Given the description of an element on the screen output the (x, y) to click on. 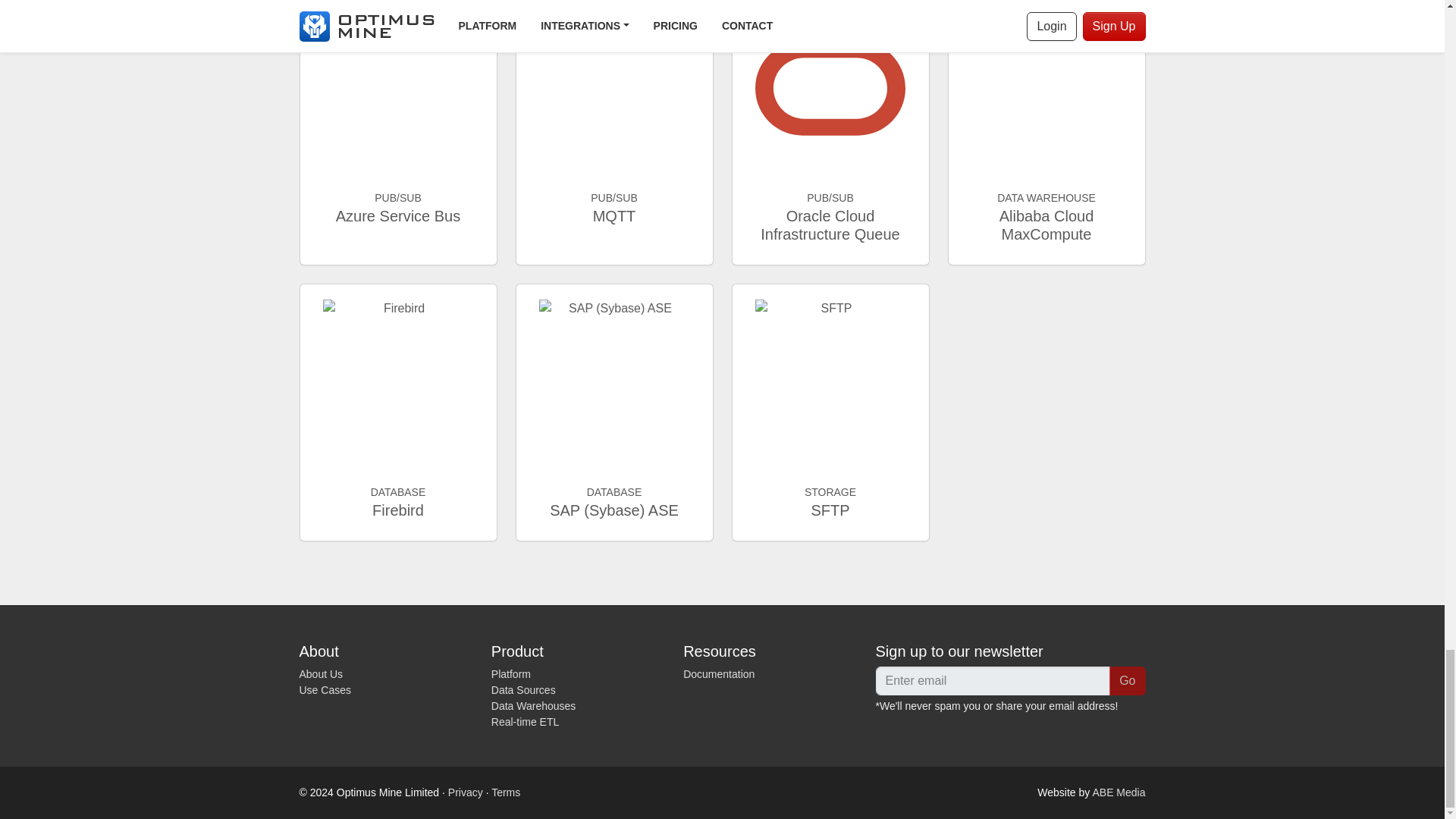
Web Design Brighton (1118, 792)
